Given the description of an element on the screen output the (x, y) to click on. 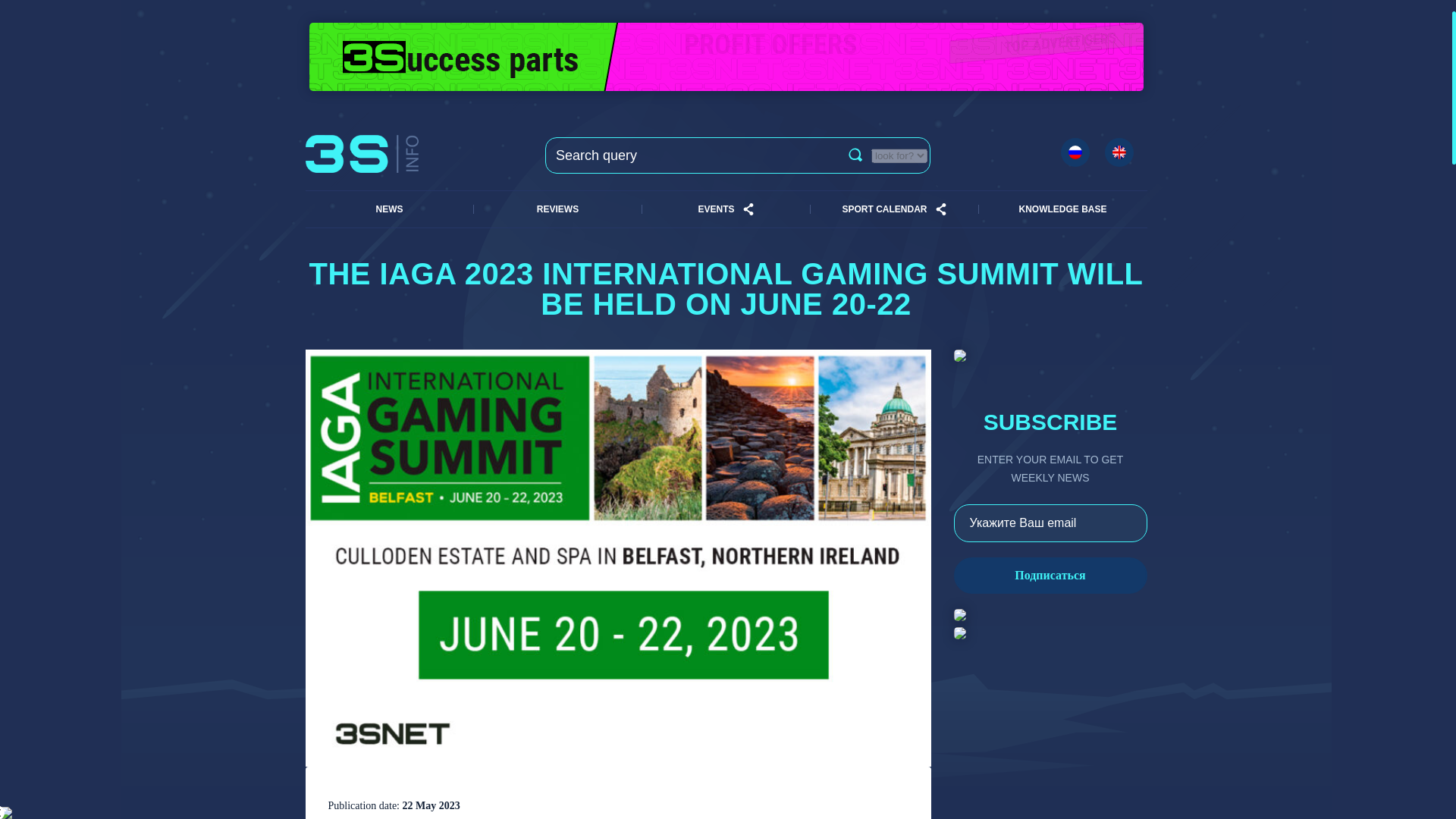
SPORT CALENDAR (883, 208)
EVENTS (715, 208)
KNOWLEDGE BASE (1062, 208)
NEWS (388, 208)
REVIEWS (557, 208)
